Given the description of an element on the screen output the (x, y) to click on. 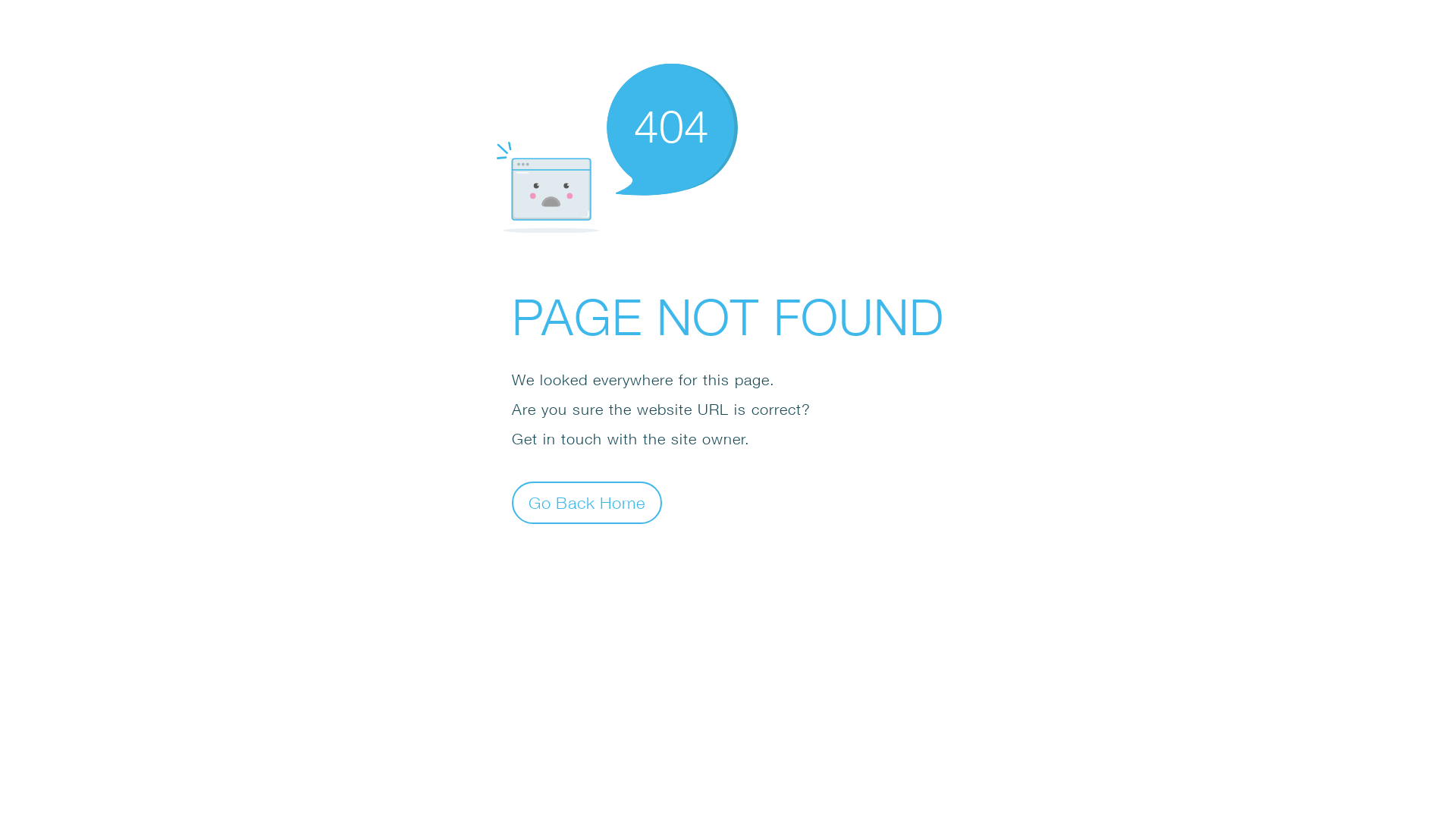
Go Back Home Element type: text (586, 502)
